Given the description of an element on the screen output the (x, y) to click on. 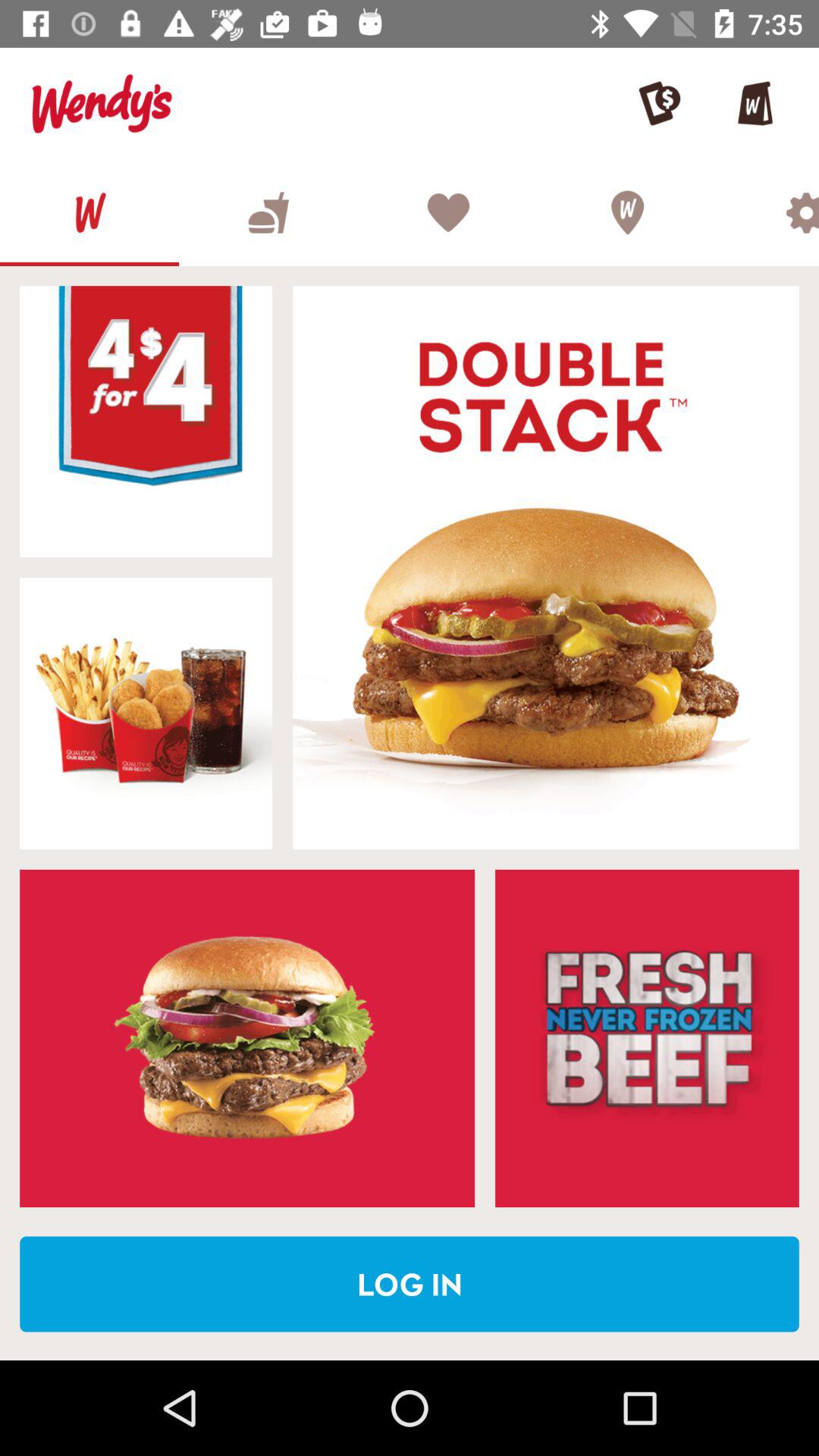
select food item (145, 421)
